Given the description of an element on the screen output the (x, y) to click on. 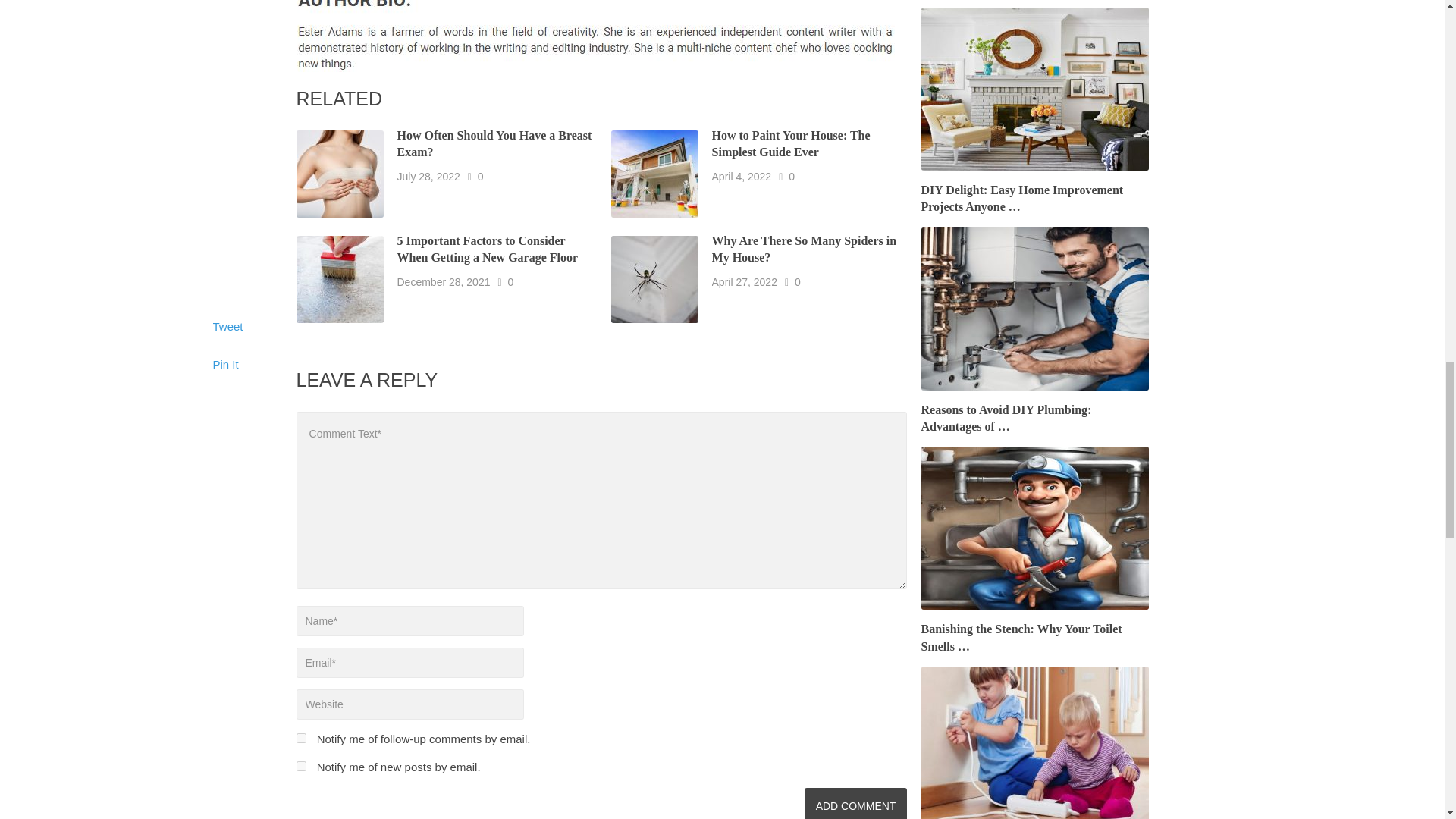
0 (480, 176)
subscribe (300, 766)
Add Comment (856, 803)
How Often Should You Have a Breast Exam? (494, 143)
0 (509, 282)
subscribe (300, 737)
How to Paint Your House: The Simplest Guide Ever (790, 143)
How Often Should You Have a Breast Exam? (494, 143)
0 (791, 176)
